Given the description of an element on the screen output the (x, y) to click on. 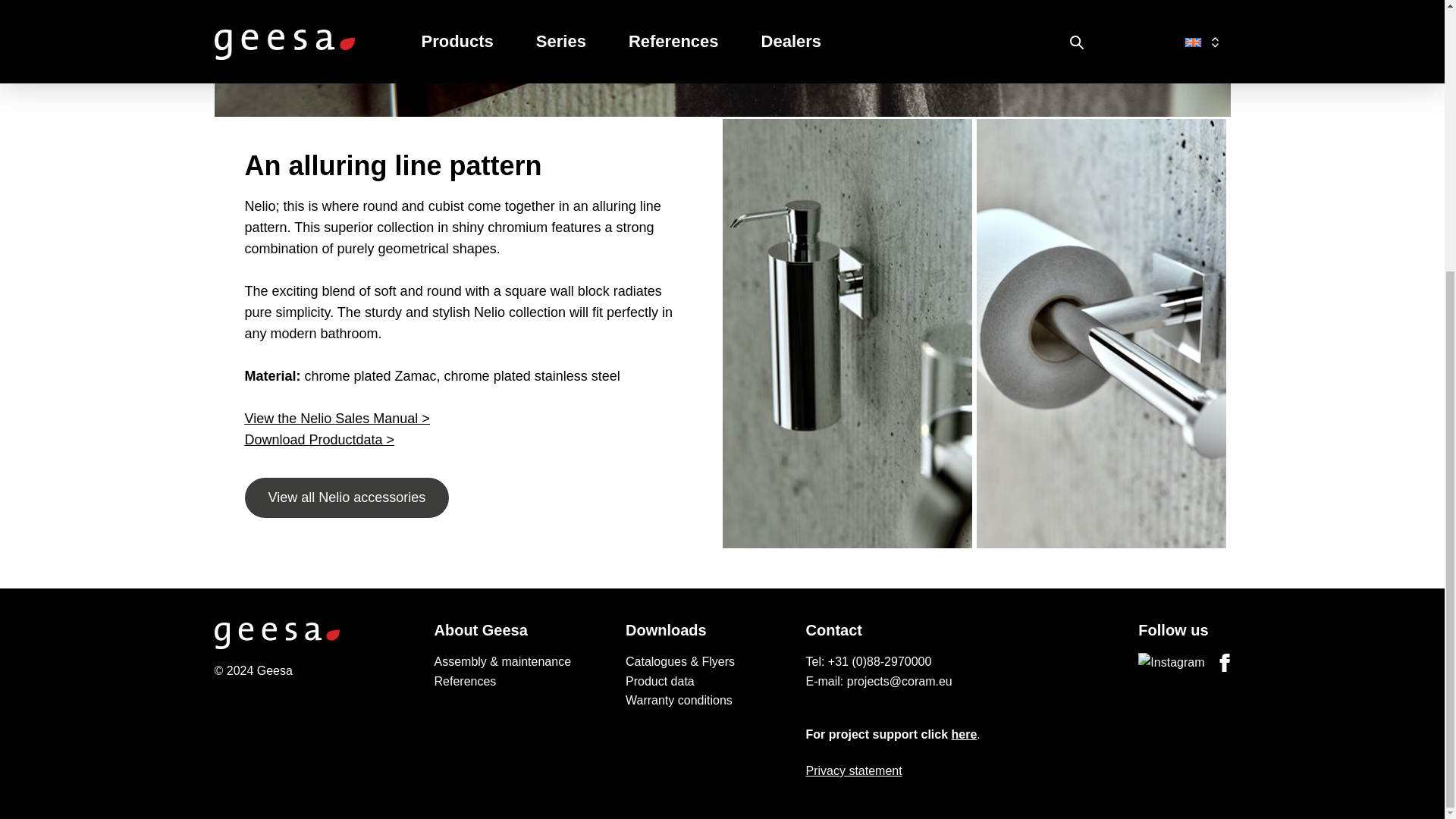
About Geesa (517, 630)
References (517, 681)
here. (965, 734)
Warranty conditions (710, 700)
Contact (907, 630)
Downloads (710, 630)
View all Nelio accessories (346, 497)
Product data (710, 681)
Privacy statement (907, 771)
